Given the description of an element on the screen output the (x, y) to click on. 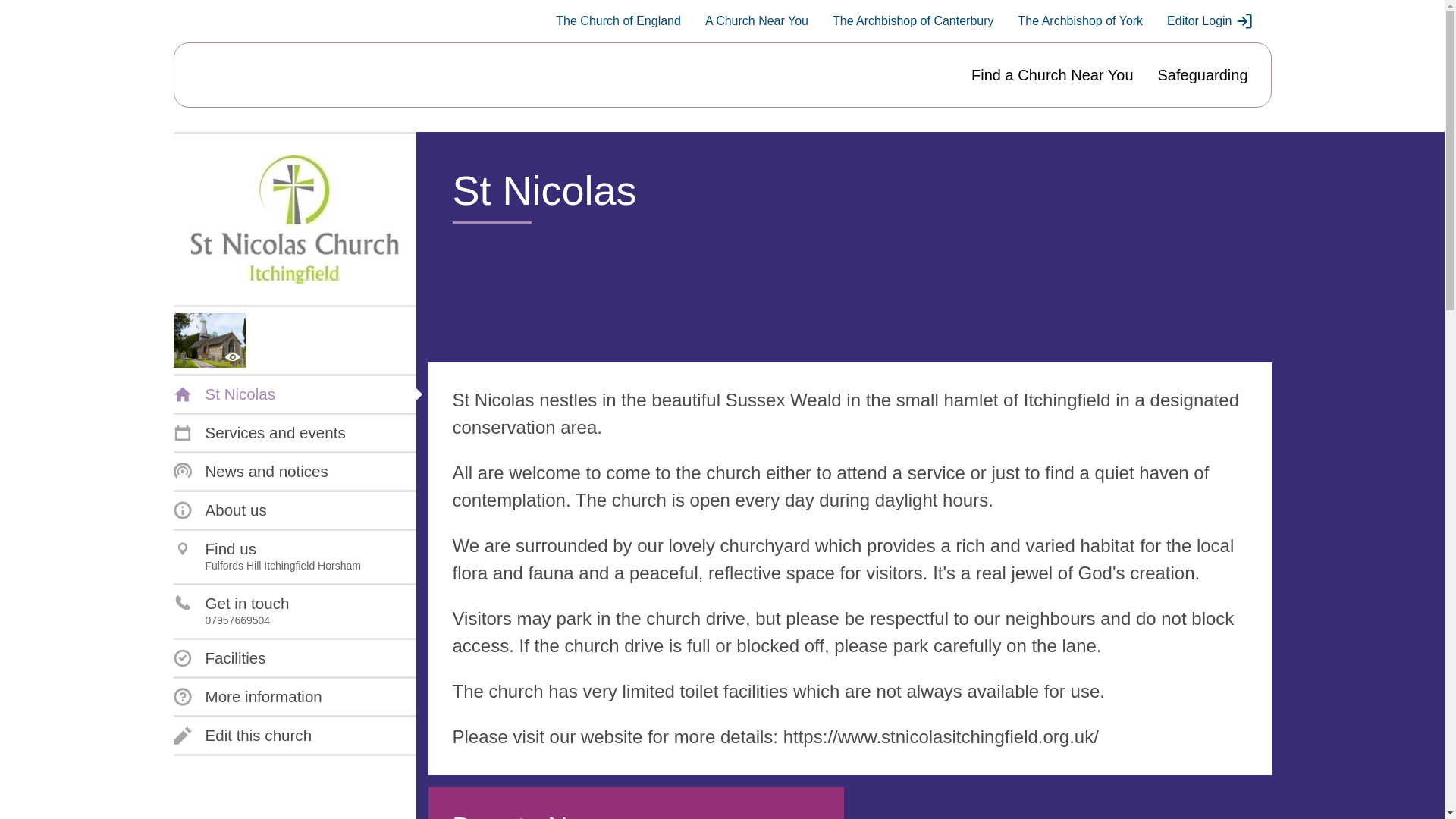
Editor Login (1209, 21)
St Nicolas (224, 393)
Services and events (259, 433)
The Archbishop of York (1079, 21)
The Church of England (618, 21)
About us (219, 510)
News and notices (266, 556)
More information (250, 471)
Find a Church Near You (247, 696)
ACNY home (1051, 75)
on (245, 75)
A Church Near You (242, 735)
